Given the description of an element on the screen output the (x, y) to click on. 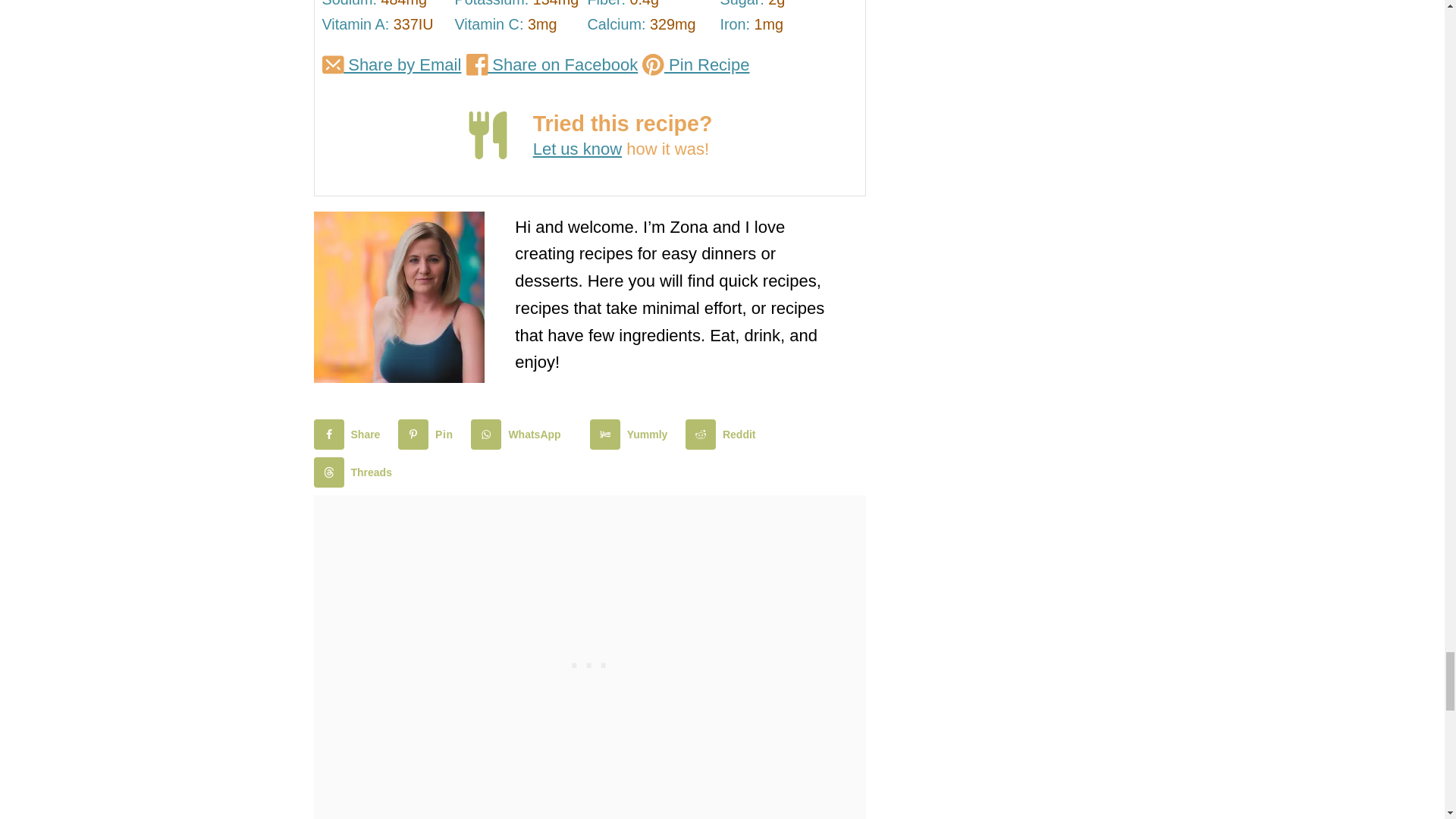
Share on Facebook (350, 434)
Save to Pinterest (428, 434)
Share on Reddit (723, 434)
Share on Yummly (632, 434)
Share on WhatsApp (518, 434)
Share on Threads (356, 472)
